Given the description of an element on the screen output the (x, y) to click on. 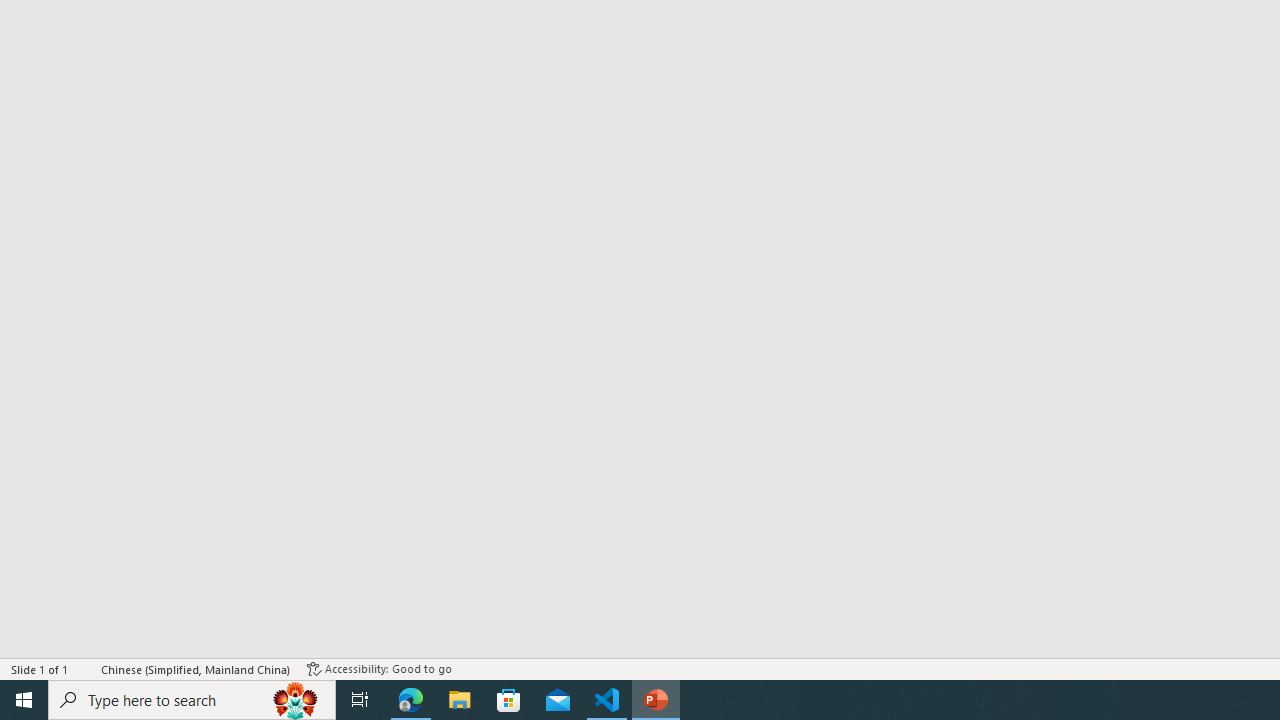
Spell Check  (86, 668)
